Given the description of an element on the screen output the (x, y) to click on. 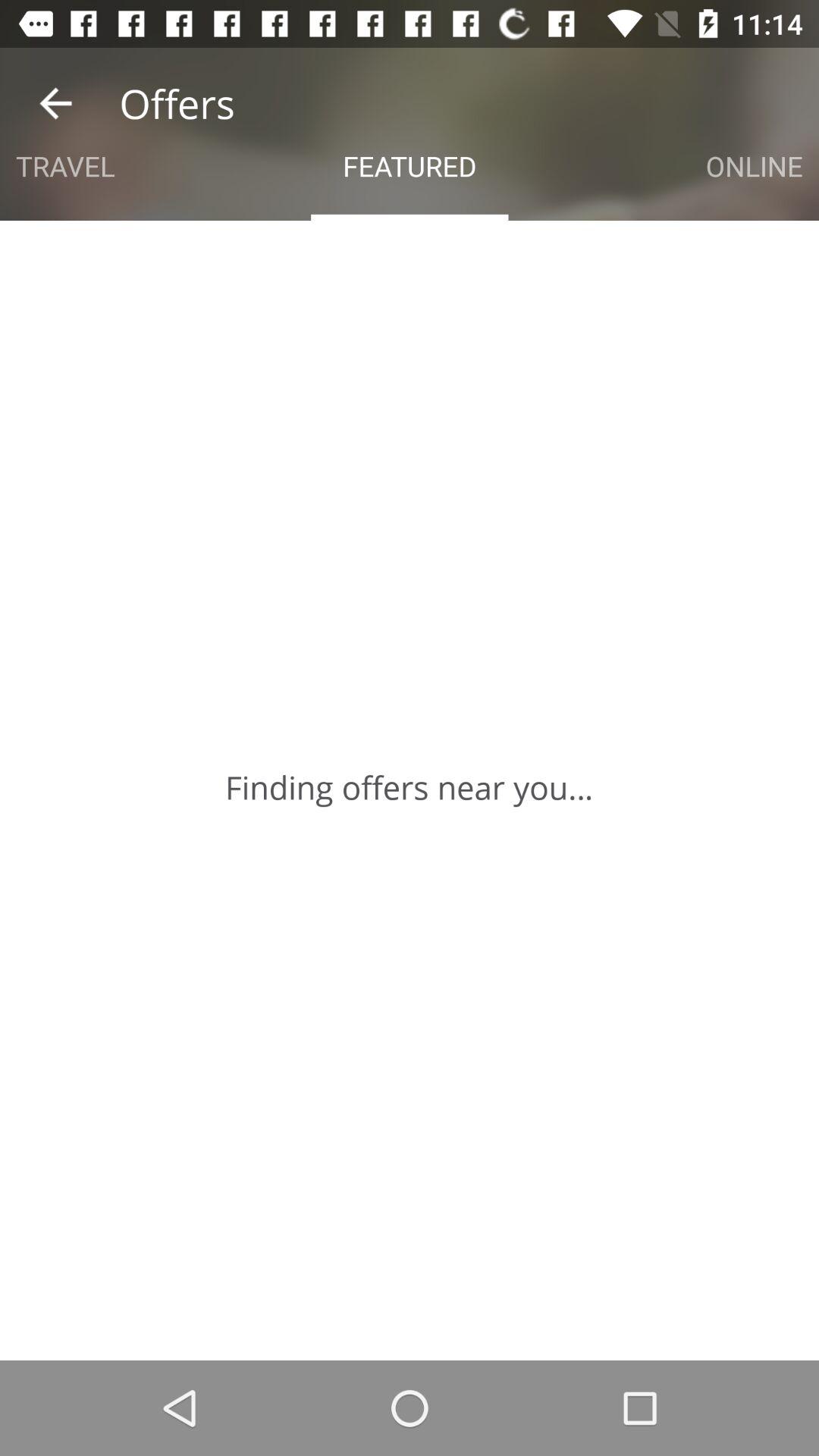
open app next to the featured icon (64, 165)
